Given the description of an element on the screen output the (x, y) to click on. 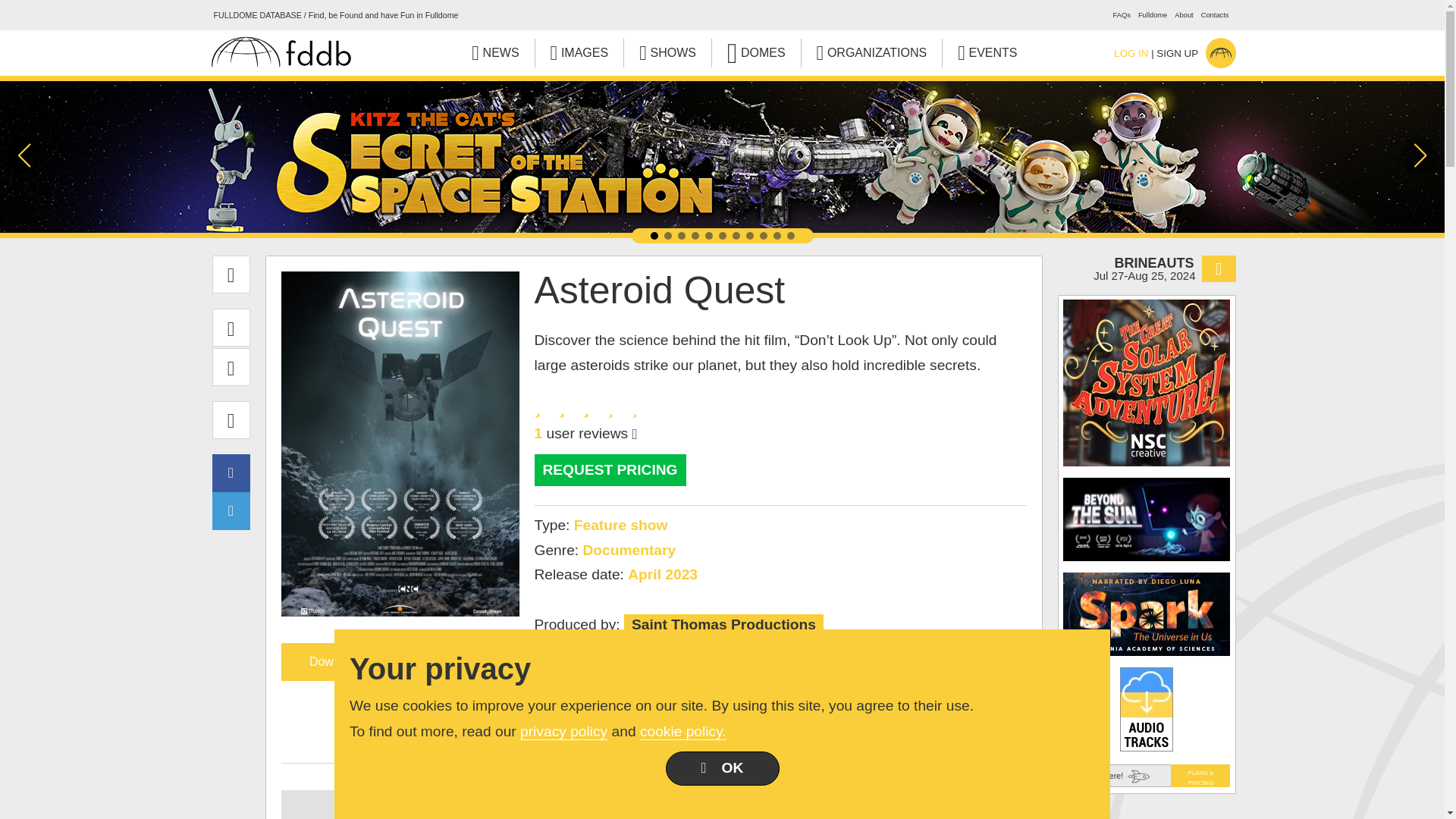
IMAGES (579, 52)
privacy policy (563, 731)
EVENTS (987, 52)
Contacts (1214, 14)
FAQs (1122, 14)
DOMES (756, 52)
cookie policy. (683, 731)
Full preview (902, 804)
Fisheye trailer (653, 804)
Flat trailer (404, 804)
